Given the description of an element on the screen output the (x, y) to click on. 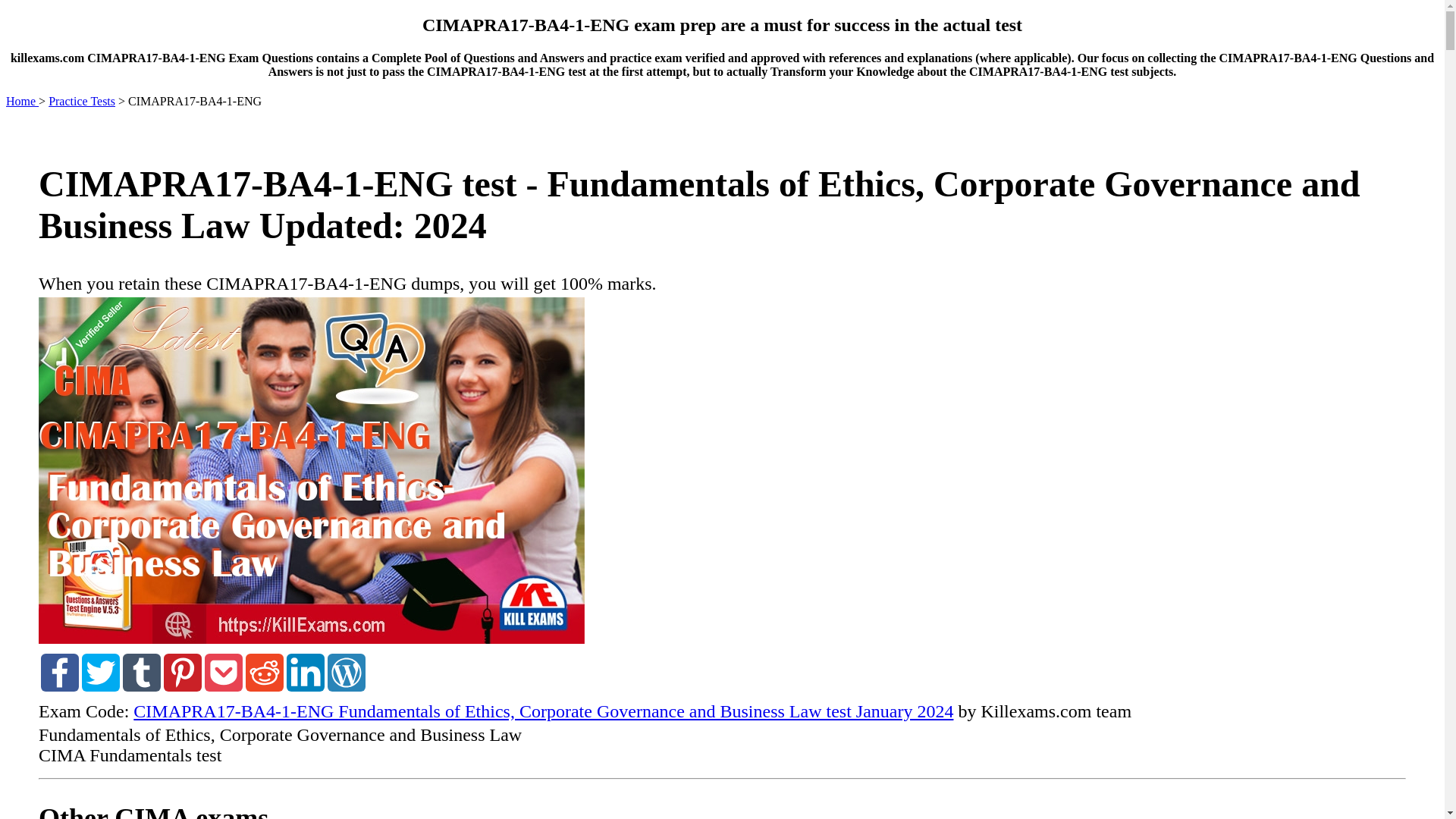
Submit to Reddit (264, 685)
Tweet (100, 685)
Practice Tests (81, 101)
Publish on WordPress (346, 685)
Share on LinkedIn (305, 685)
Share on Facebook (59, 685)
Post to Tumblr (141, 685)
Home (22, 101)
Pin it (182, 685)
Add to Pocket (224, 685)
